Given the description of an element on the screen output the (x, y) to click on. 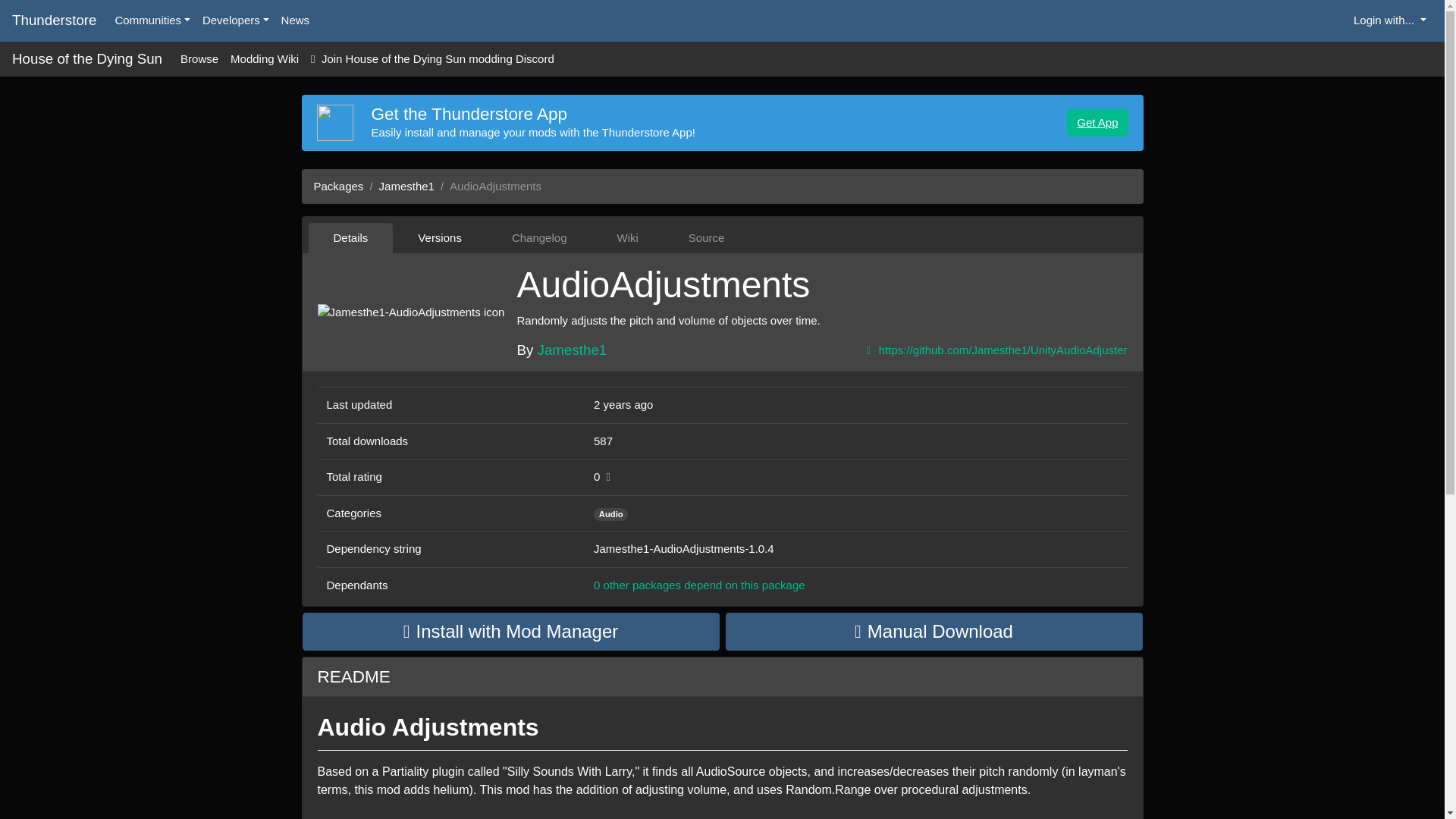
Communities (152, 20)
Thunderstore (54, 20)
